Given the description of an element on the screen output the (x, y) to click on. 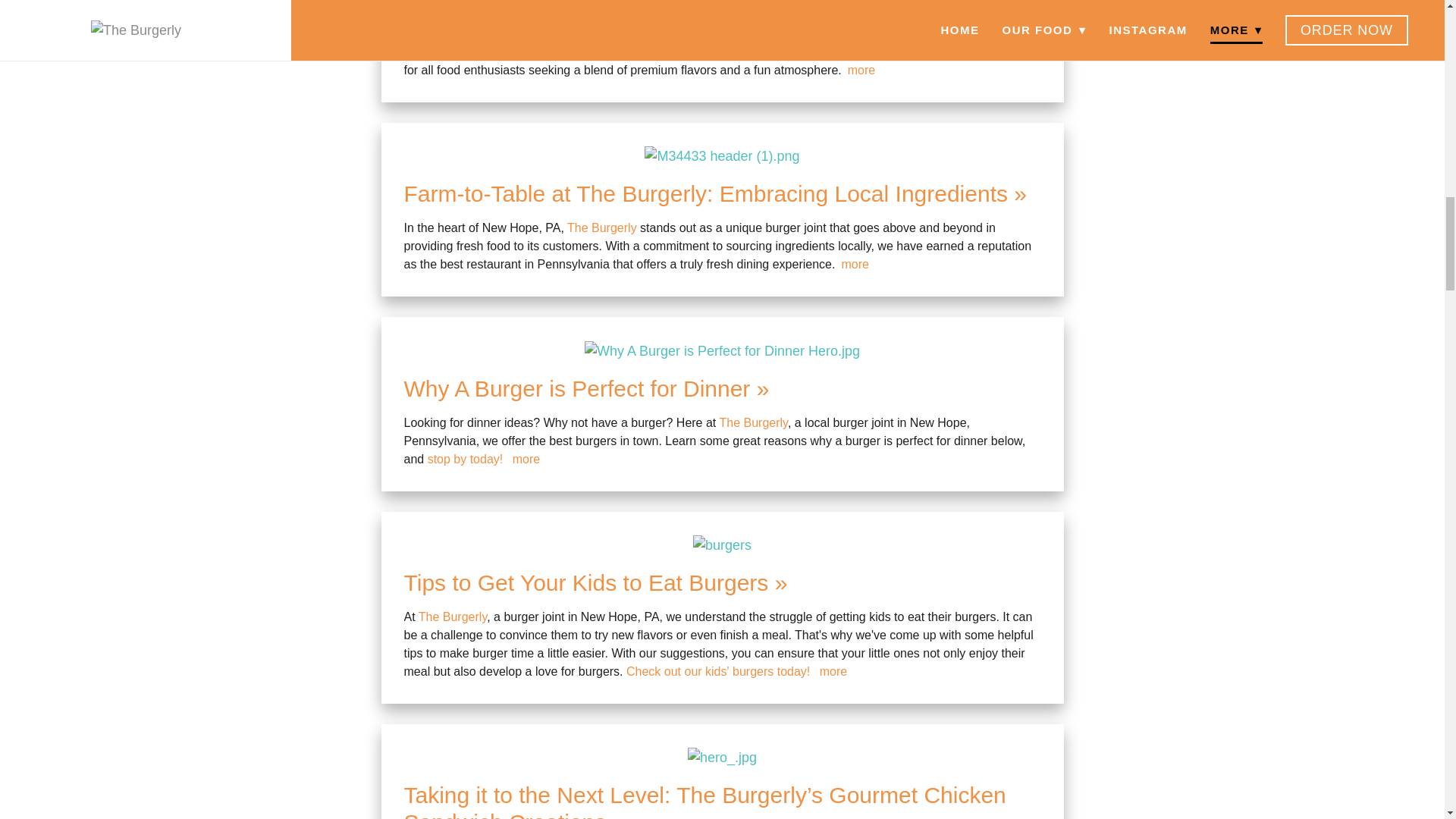
The Burgerly (602, 227)
more (861, 69)
The Burgerly (504, 33)
burgers (722, 545)
Farm-to-Table at The Burgerly: Embracing Local Ingredients (714, 193)
more (854, 264)
Elevating the Dining Experience at The Burgerly (654, 6)
